Given the description of an element on the screen output the (x, y) to click on. 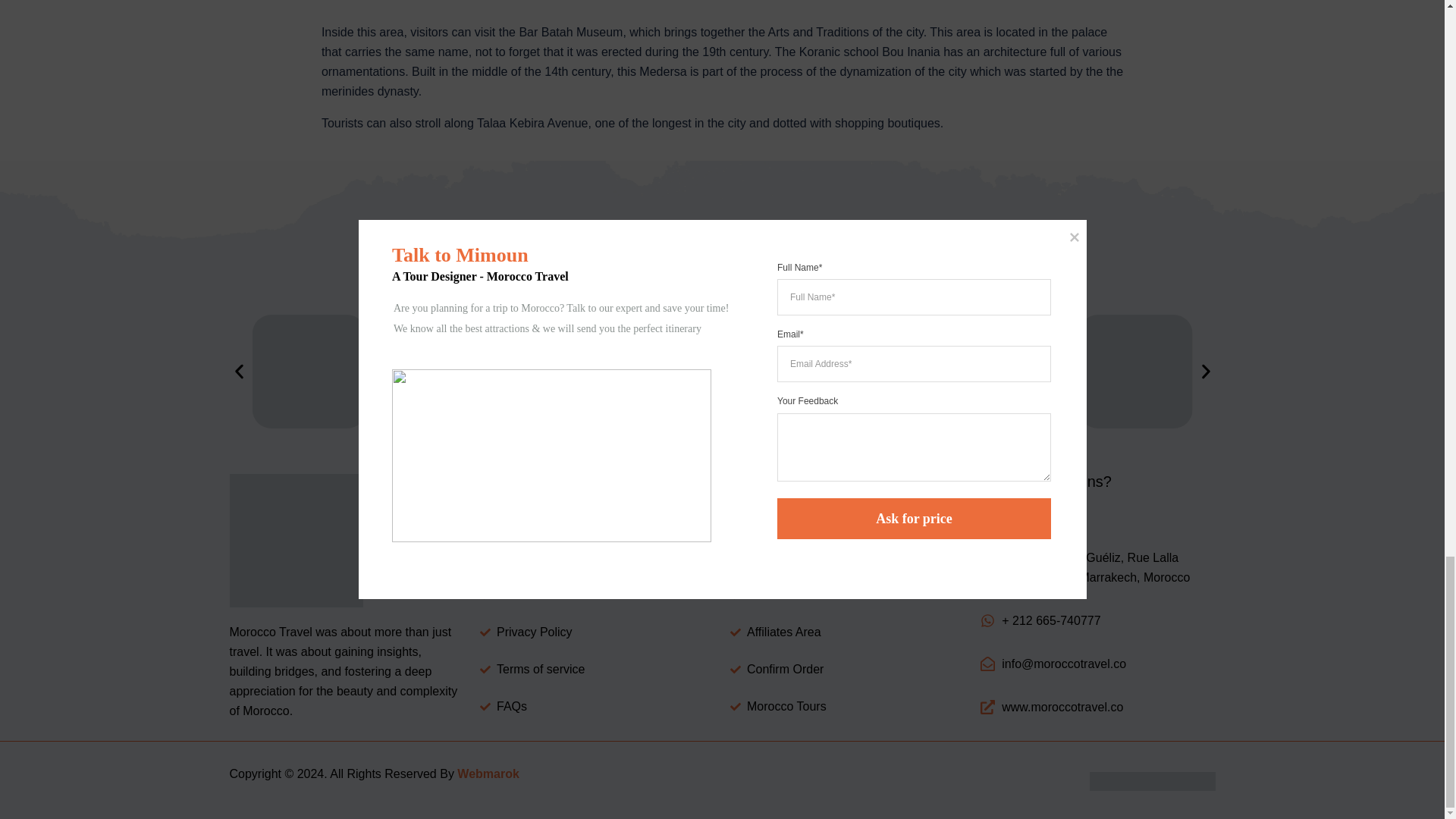
Affiliates Area (846, 632)
Webmarok (488, 773)
Confirm Order (846, 669)
Work Wih Us (846, 557)
About Us (596, 595)
Contact Us (596, 557)
Terms and Conditions (846, 595)
Morocco Tours (846, 706)
www.moroccotravel.co (1096, 707)
Terms of service (596, 669)
Privacy Policy (596, 632)
FAQs (596, 706)
